Given the description of an element on the screen output the (x, y) to click on. 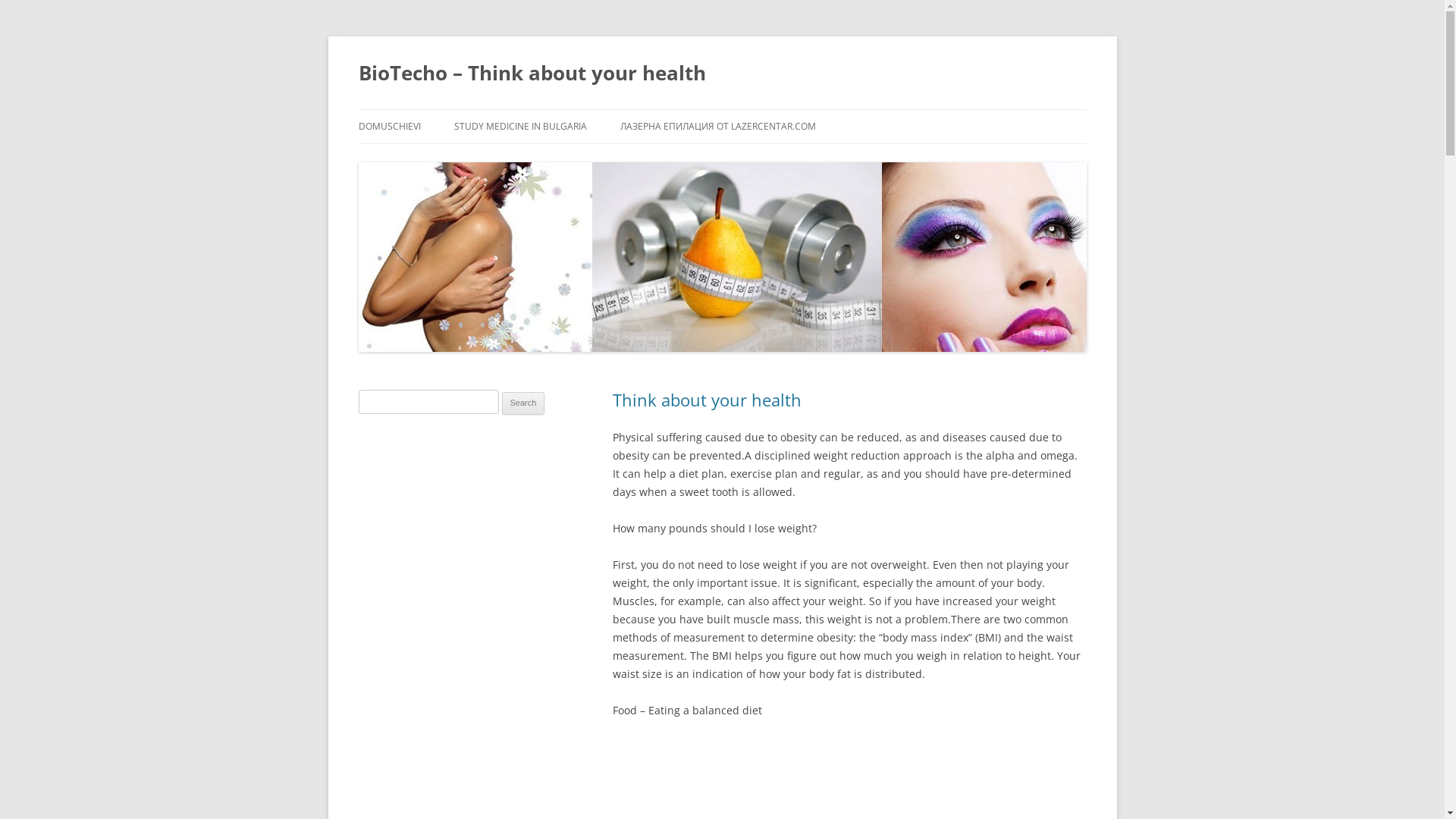
Search Element type: text (523, 403)
Think about your health Element type: text (706, 399)
Skip to content Element type: text (395, 113)
DOMUSCHIEVI Element type: text (388, 126)
STUDY MEDICINE IN BULGARIA Element type: text (519, 126)
